Given the description of an element on the screen output the (x, y) to click on. 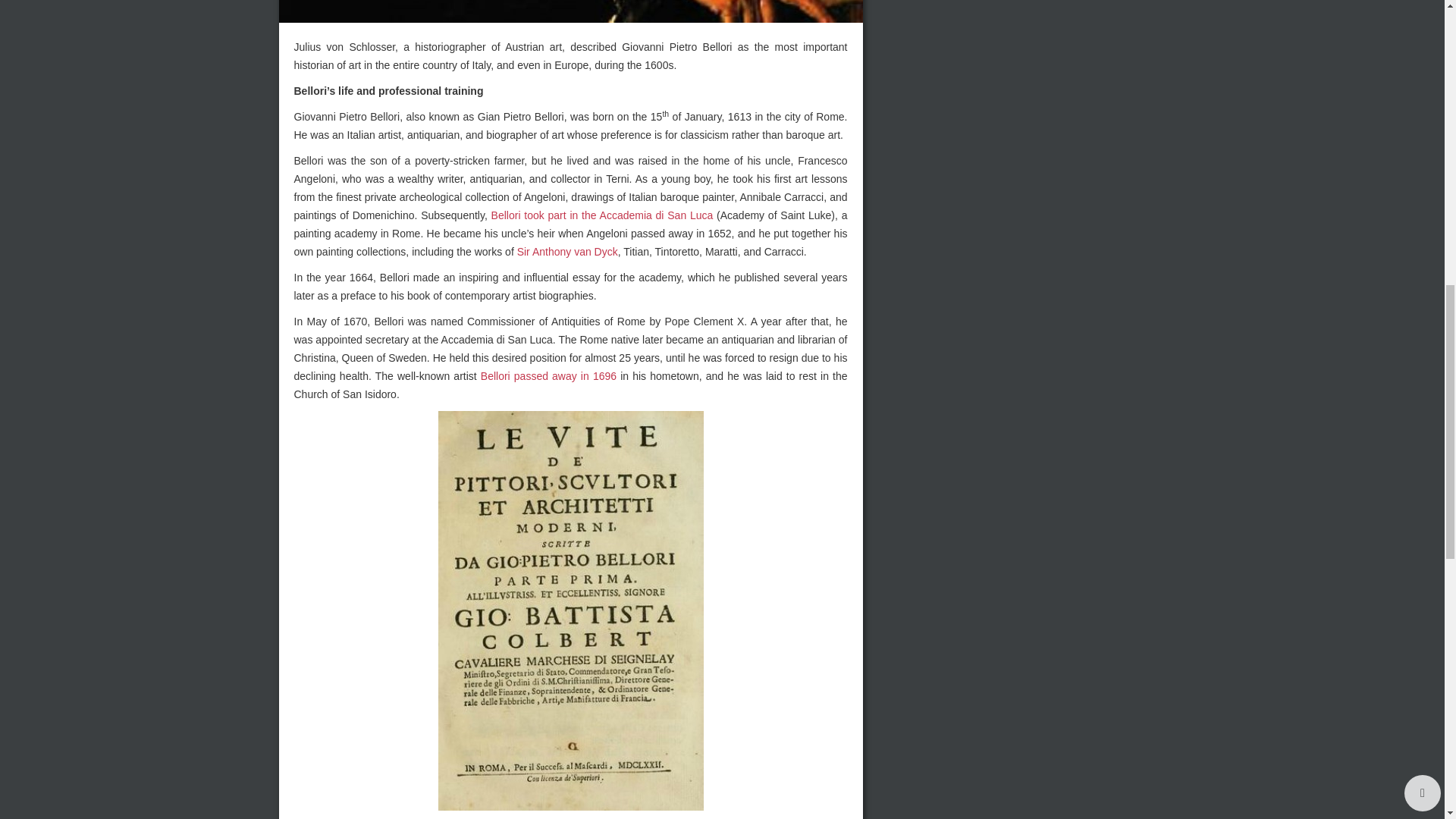
Bellori took part in the Accademia di San Luca (602, 215)
Sir Anthony van Dyck (566, 251)
Bellori passed away in 1696 (547, 376)
